Given the description of an element on the screen output the (x, y) to click on. 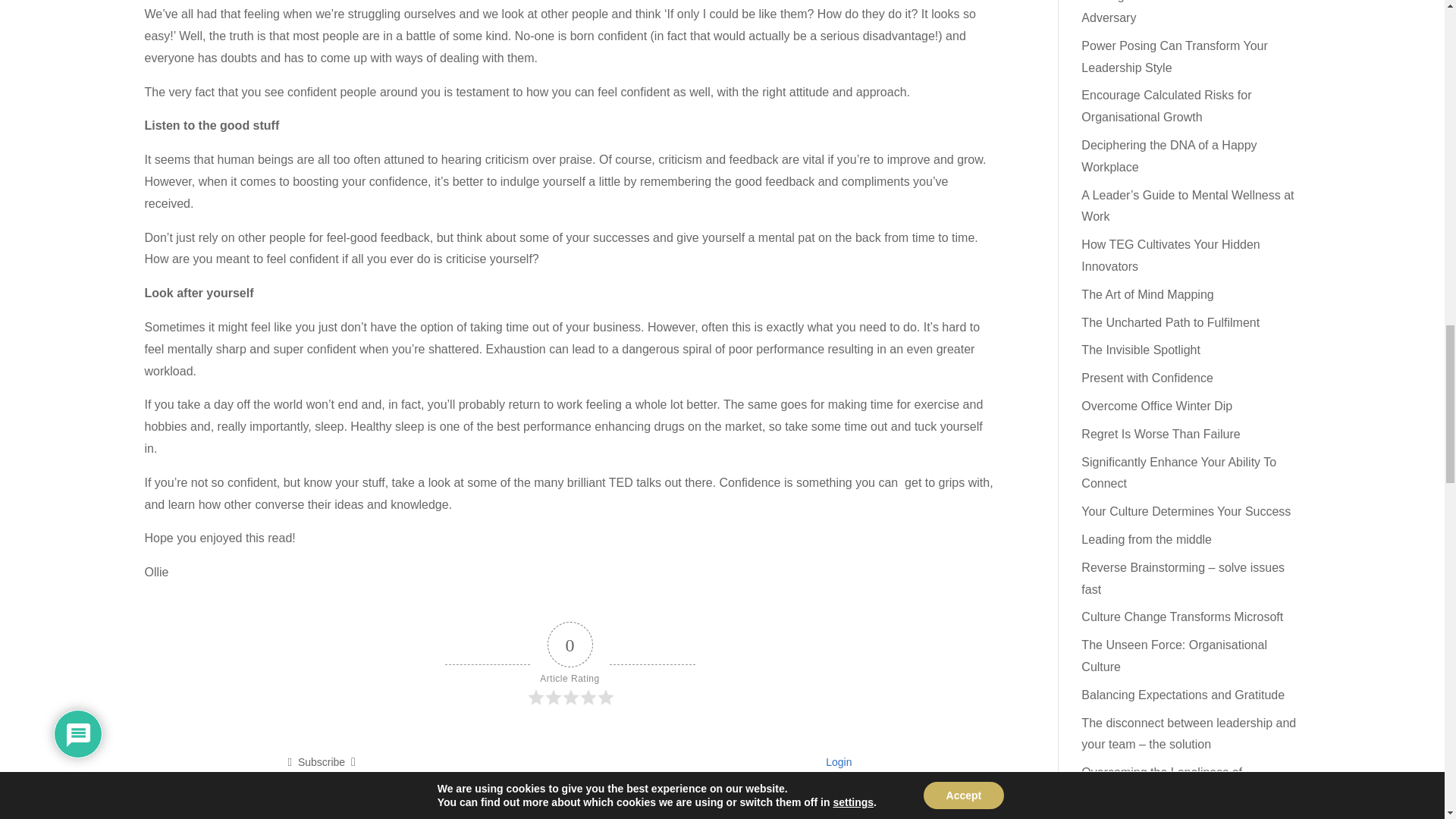
Login (836, 761)
